Given the description of an element on the screen output the (x, y) to click on. 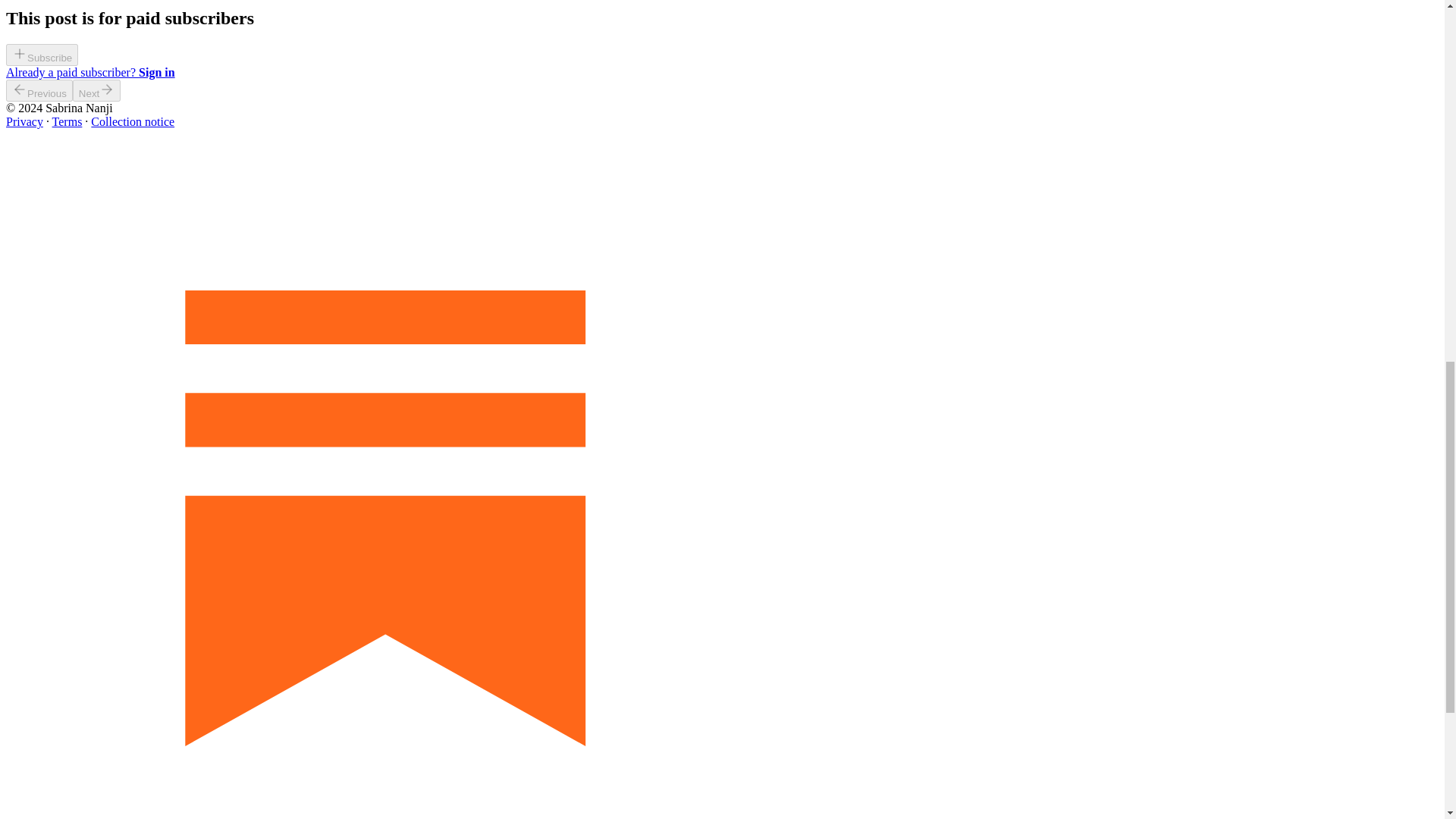
Subscribe (41, 55)
Subscribe (41, 56)
Next (96, 90)
Privacy (24, 121)
Previous (38, 90)
Already a paid subscriber? Sign in (89, 72)
Terms (67, 121)
Collection notice (132, 121)
